Given the description of an element on the screen output the (x, y) to click on. 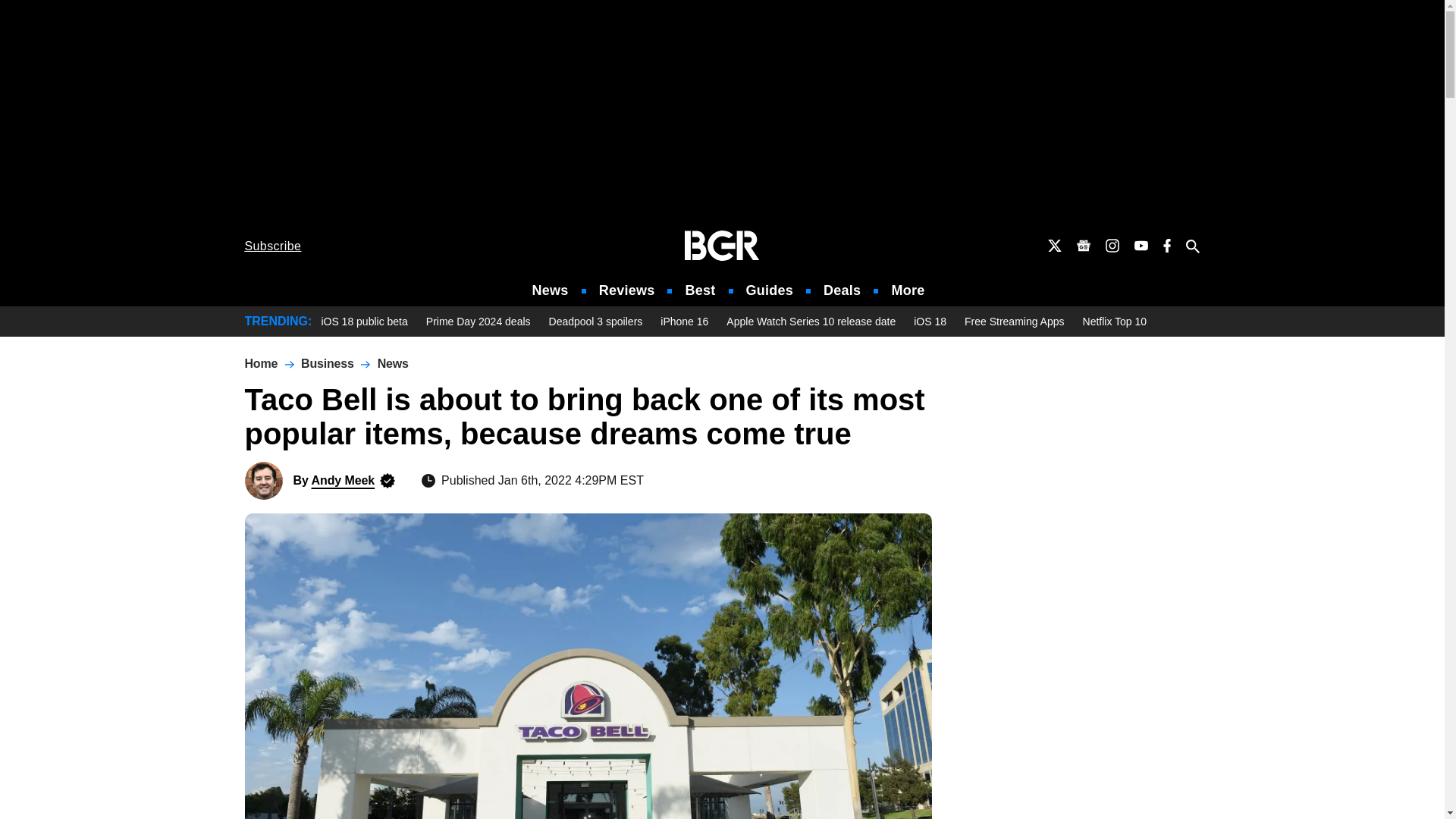
More (907, 290)
Deals (842, 290)
News (550, 290)
Posts by Andy Meek (343, 480)
3rd party ad content (721, 112)
Subscribe (272, 245)
Best (699, 290)
Reviews (626, 290)
Guides (769, 290)
